Given the description of an element on the screen output the (x, y) to click on. 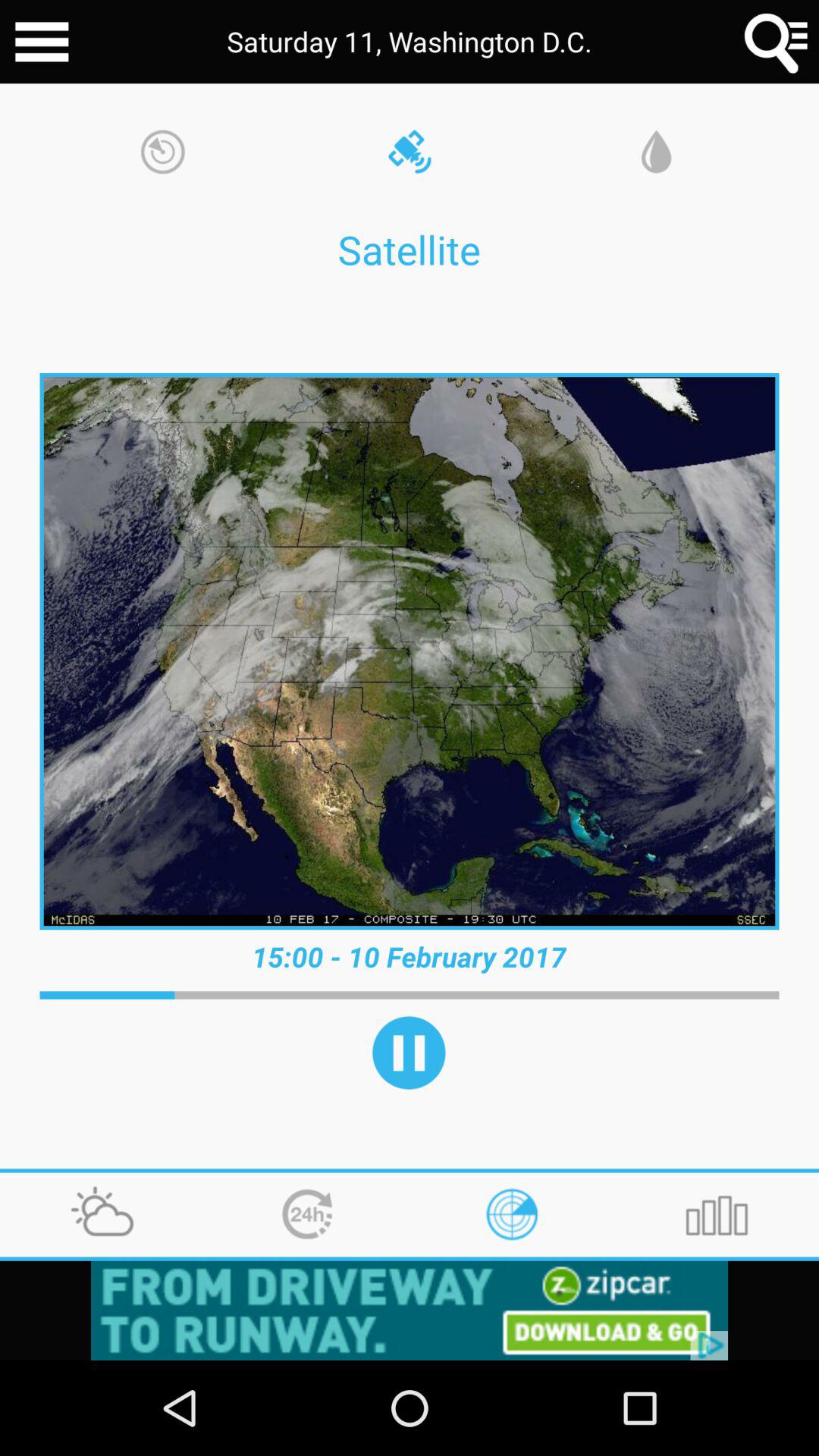
select the icon on left to the icon which is on the bottom right corner of the web page (511, 1214)
click on the image (409, 651)
click on the image (409, 651)
click on the satellite icon (409, 153)
click on the water drop icon (656, 153)
select the image below satellite (409, 651)
click on the image below satellite (409, 651)
click on the icon which is at bottom right corner (716, 1214)
click on the icon at the bottom right corner of the page (716, 1214)
